Given the description of an element on the screen output the (x, y) to click on. 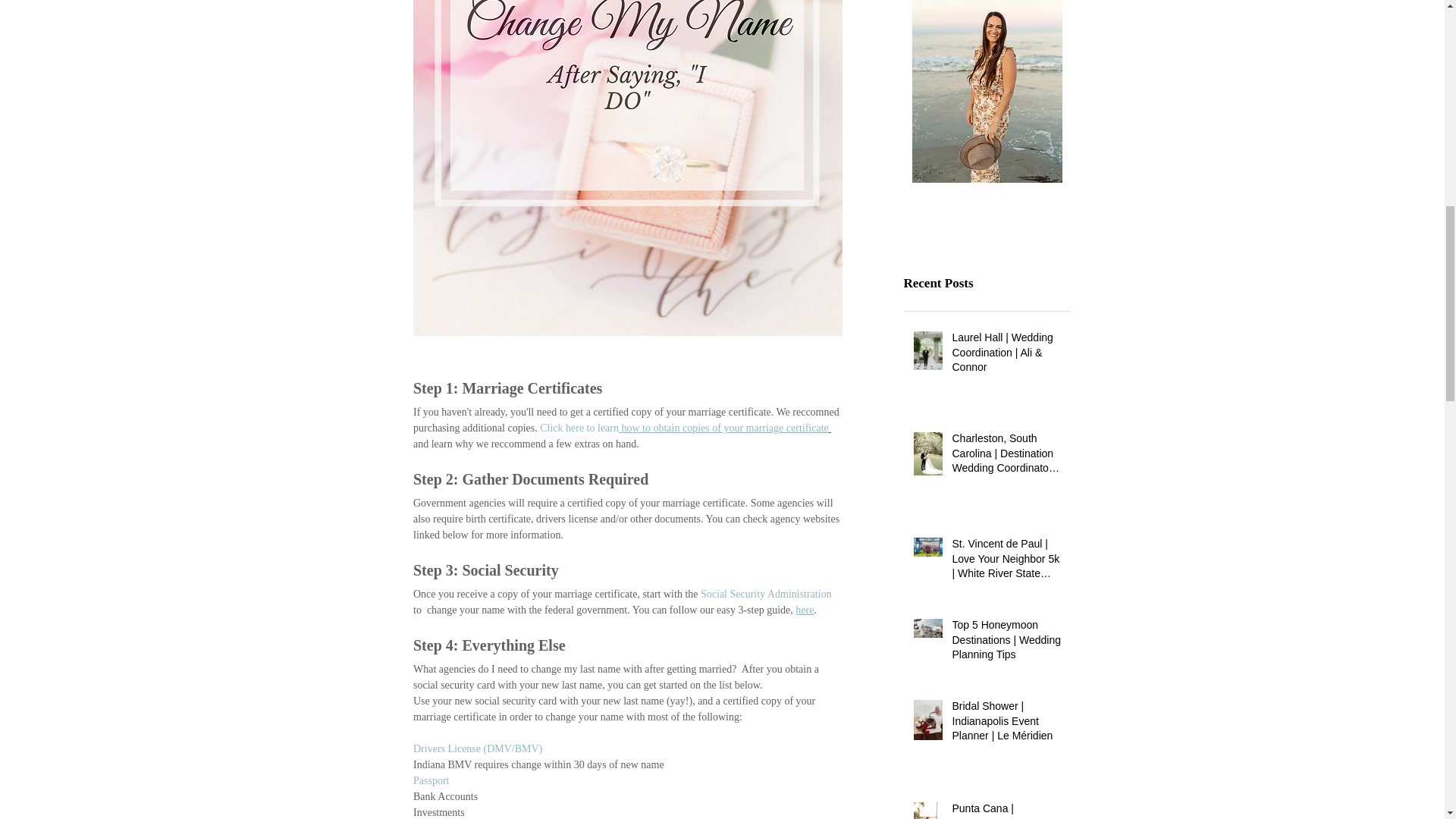
 how to obtain copies of your marriage certificate (722, 428)
Click here to learn (579, 428)
Passport (430, 780)
Social Security Administration (765, 593)
here (803, 609)
